Given the description of an element on the screen output the (x, y) to click on. 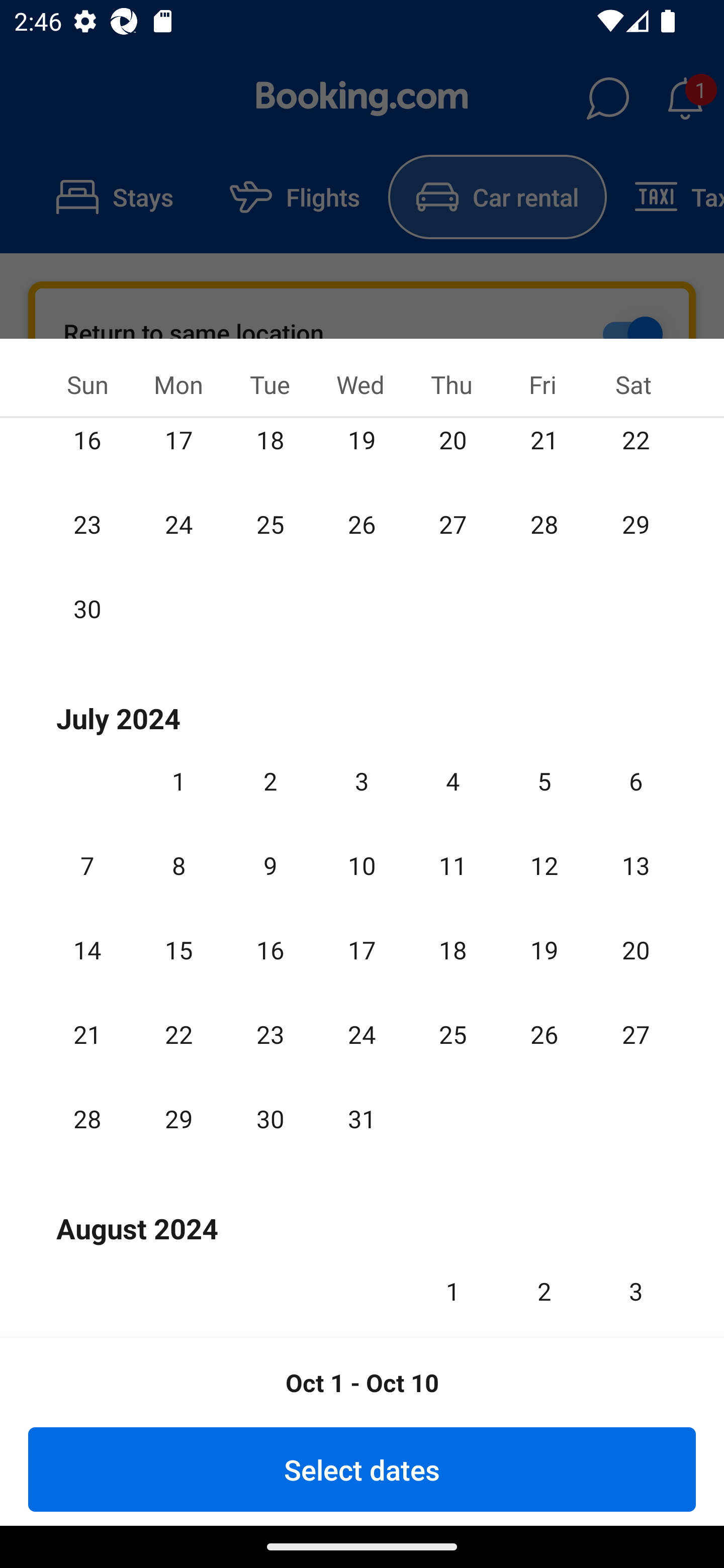
Select dates (361, 1468)
